Given the description of an element on the screen output the (x, y) to click on. 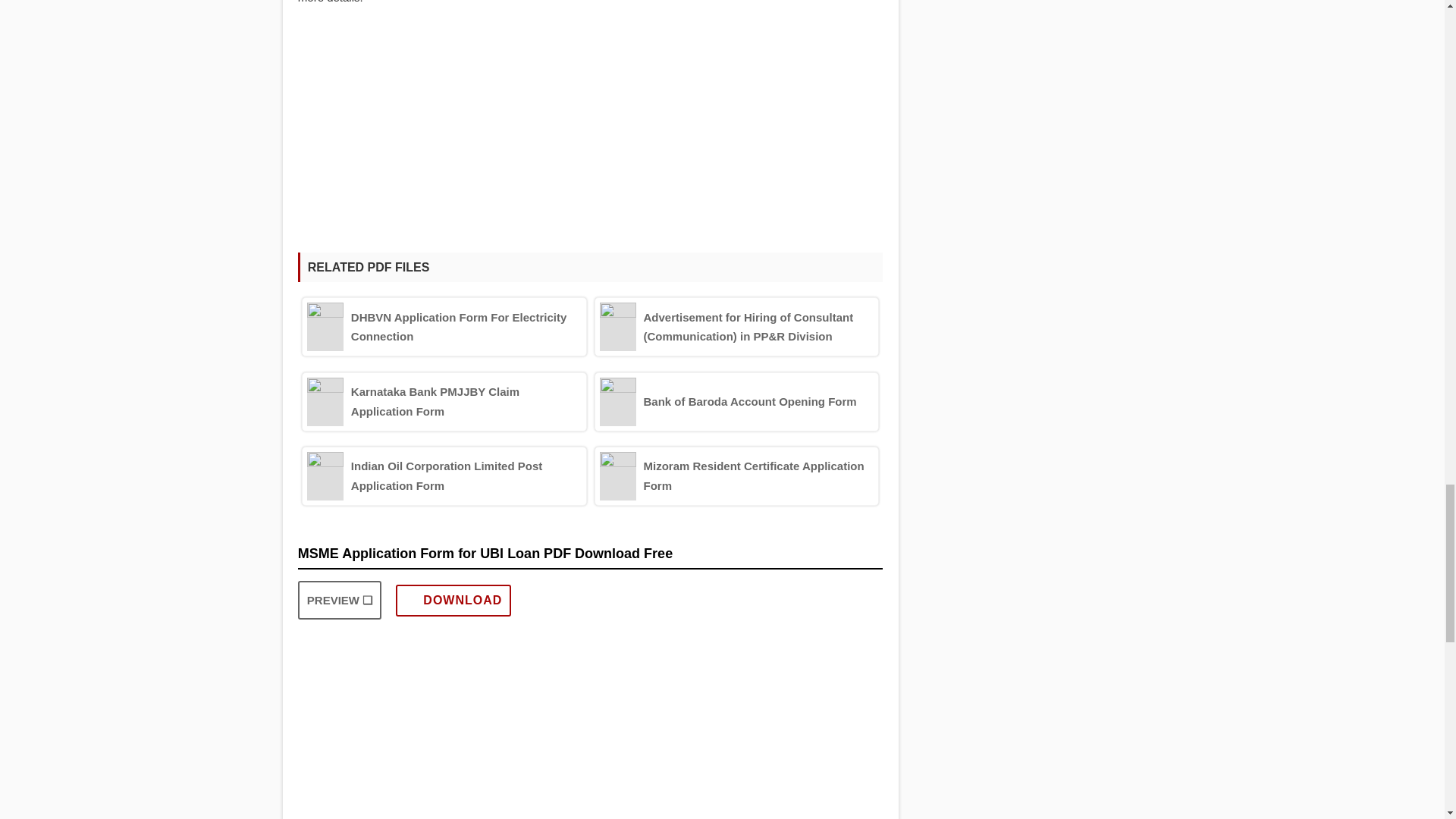
Download (453, 600)
Indian Oil Corporation Limited Post Application Form (444, 476)
Bank of Baroda Account Opening Form (735, 401)
Download (453, 600)
Mizoram Resident Certificate Application Form (735, 476)
DHBVN Application Form For Electricity Connection (444, 326)
Karnataka Bank PMJJBY Claim Application Form (444, 401)
